Given the description of an element on the screen output the (x, y) to click on. 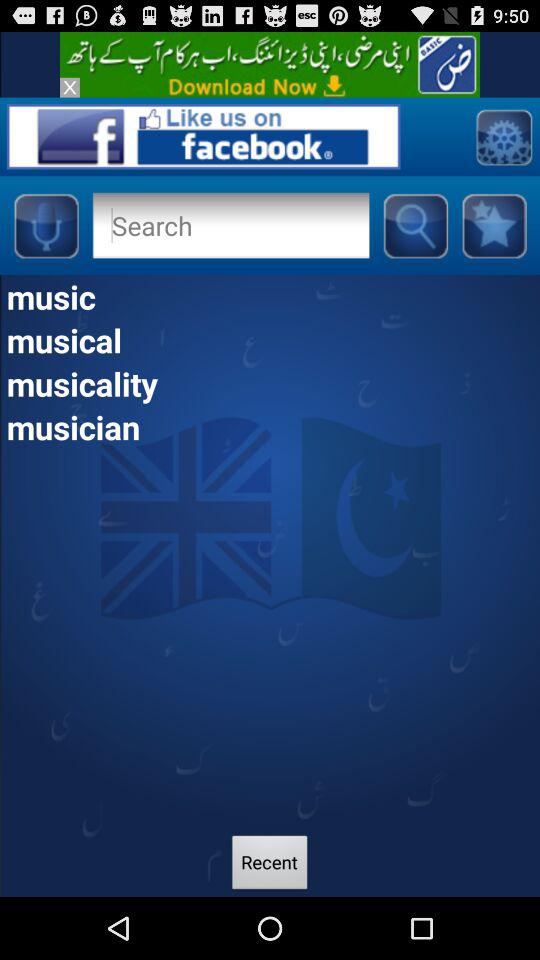
select the icon below musical icon (270, 383)
